Given the description of an element on the screen output the (x, y) to click on. 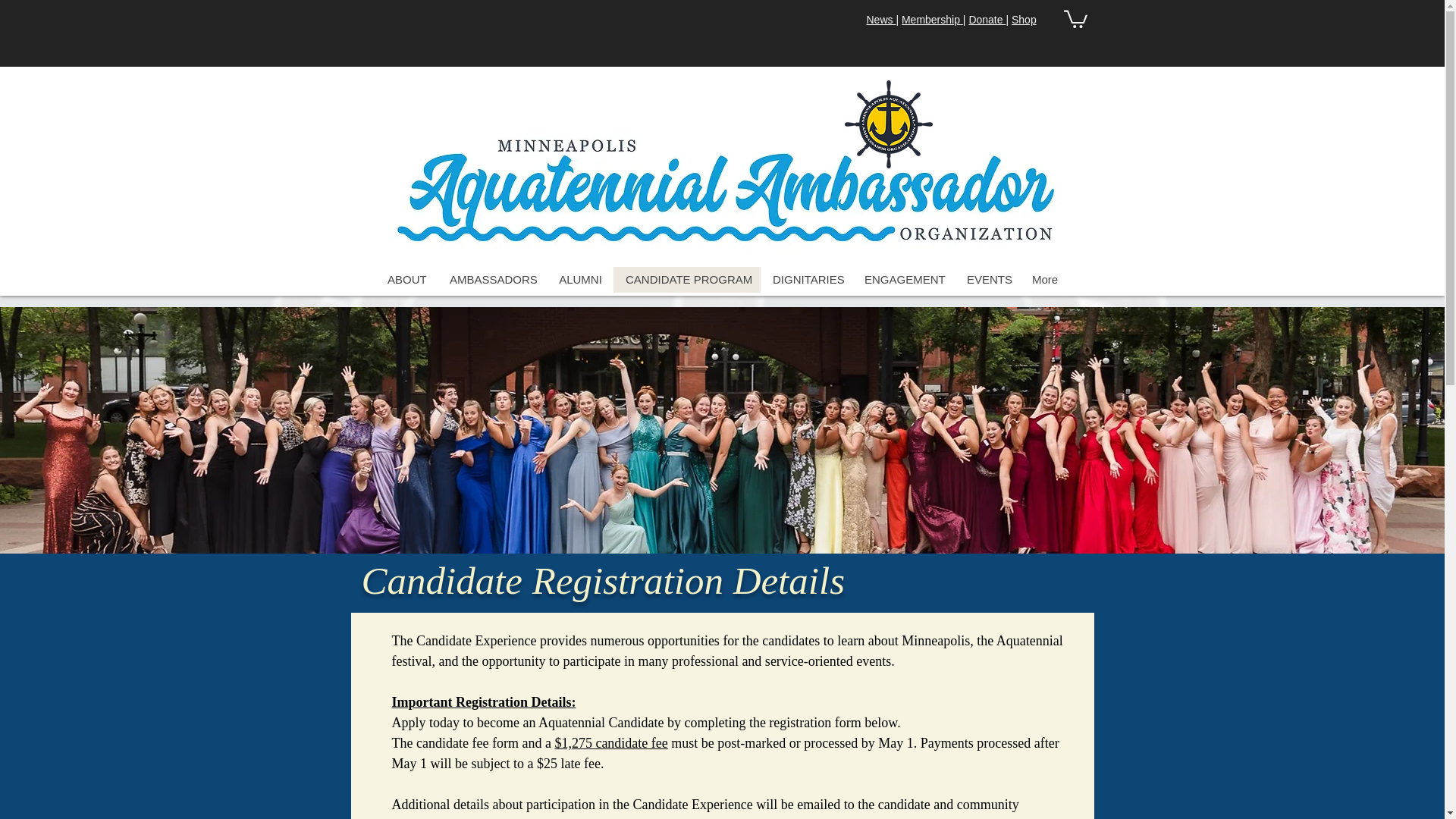
ABOUT (406, 279)
EVENTS (987, 279)
News (880, 19)
ALUMNI (579, 279)
DIGNITARIES (805, 279)
Membership (931, 19)
CANDIDATE PROGRAM (686, 279)
Shop (1023, 19)
Donate  (987, 19)
